Given the description of an element on the screen output the (x, y) to click on. 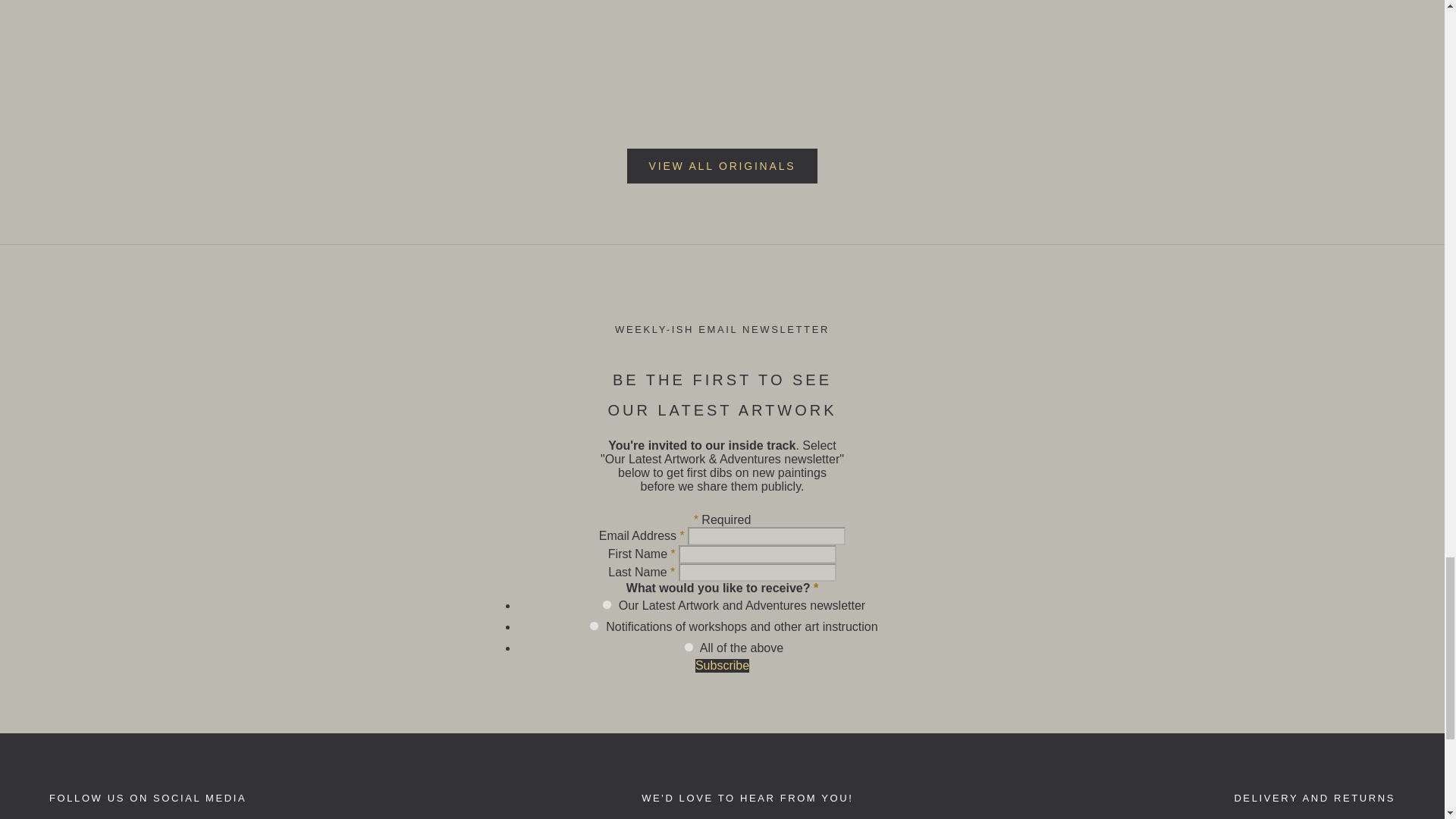
Subscribe (722, 664)
Notifications of workshops and other art instruction (593, 624)
All of the above (689, 646)
Our Latest Artwork and Adventures newsletter (606, 603)
